Given the description of an element on the screen output the (x, y) to click on. 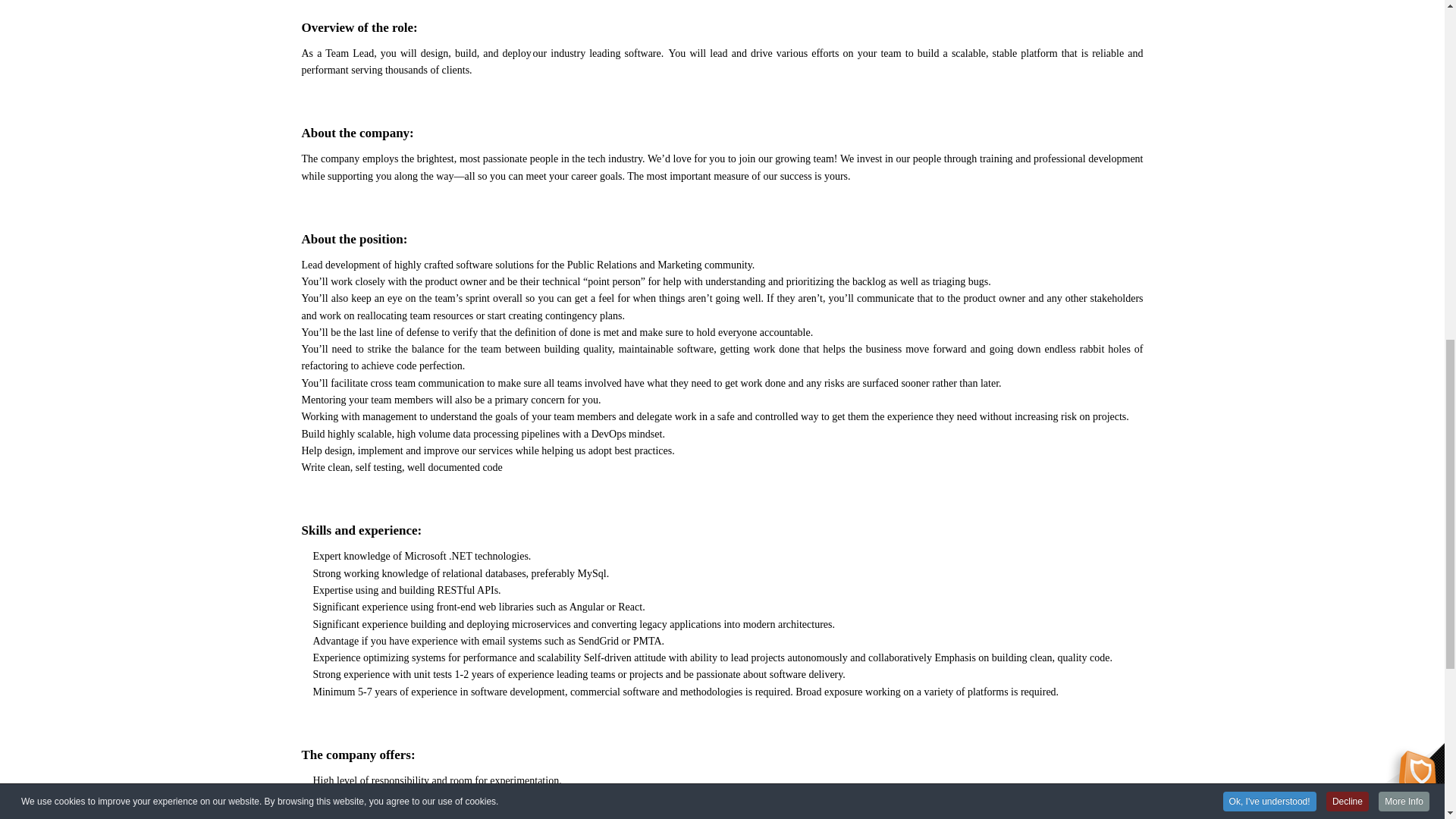
More Info (1403, 6)
Decline (1347, 6)
Ok, I've understood! (1269, 7)
